Given the description of an element on the screen output the (x, y) to click on. 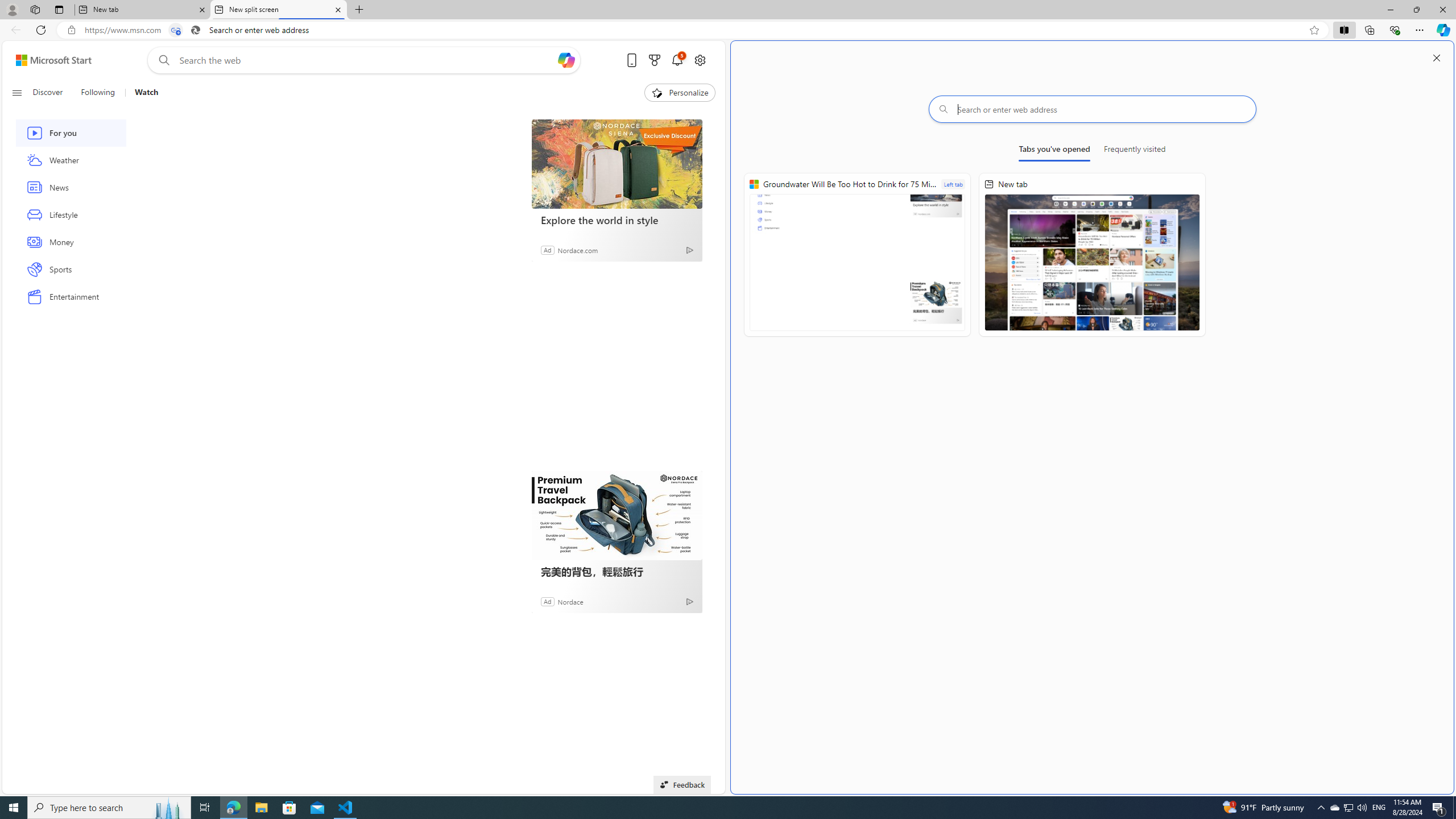
Search or enter web address (1092, 108)
Personalize (679, 92)
Explore the world in style (616, 163)
